Given the description of an element on the screen output the (x, y) to click on. 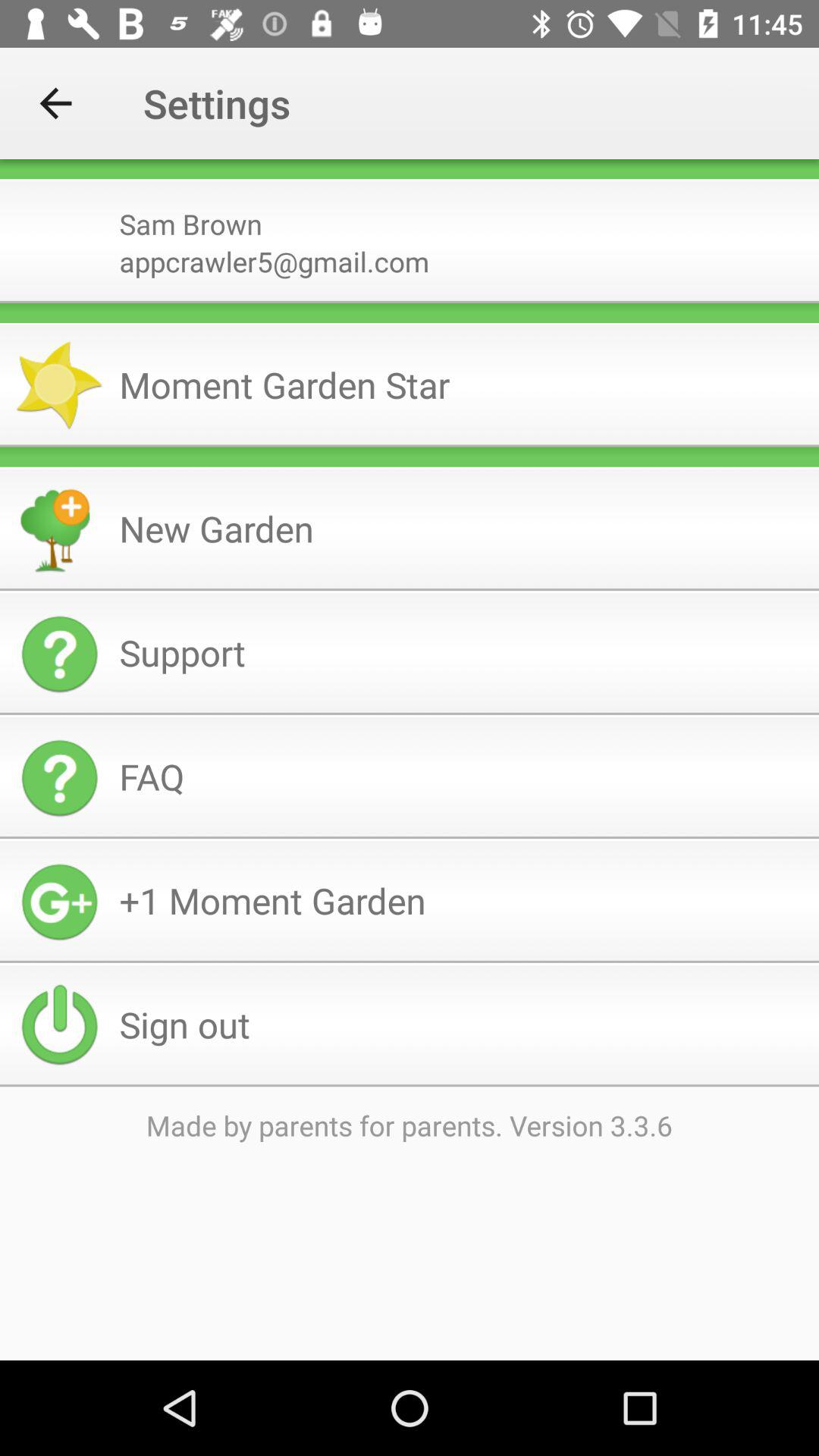
open the (409, 313)
